Given the description of an element on the screen output the (x, y) to click on. 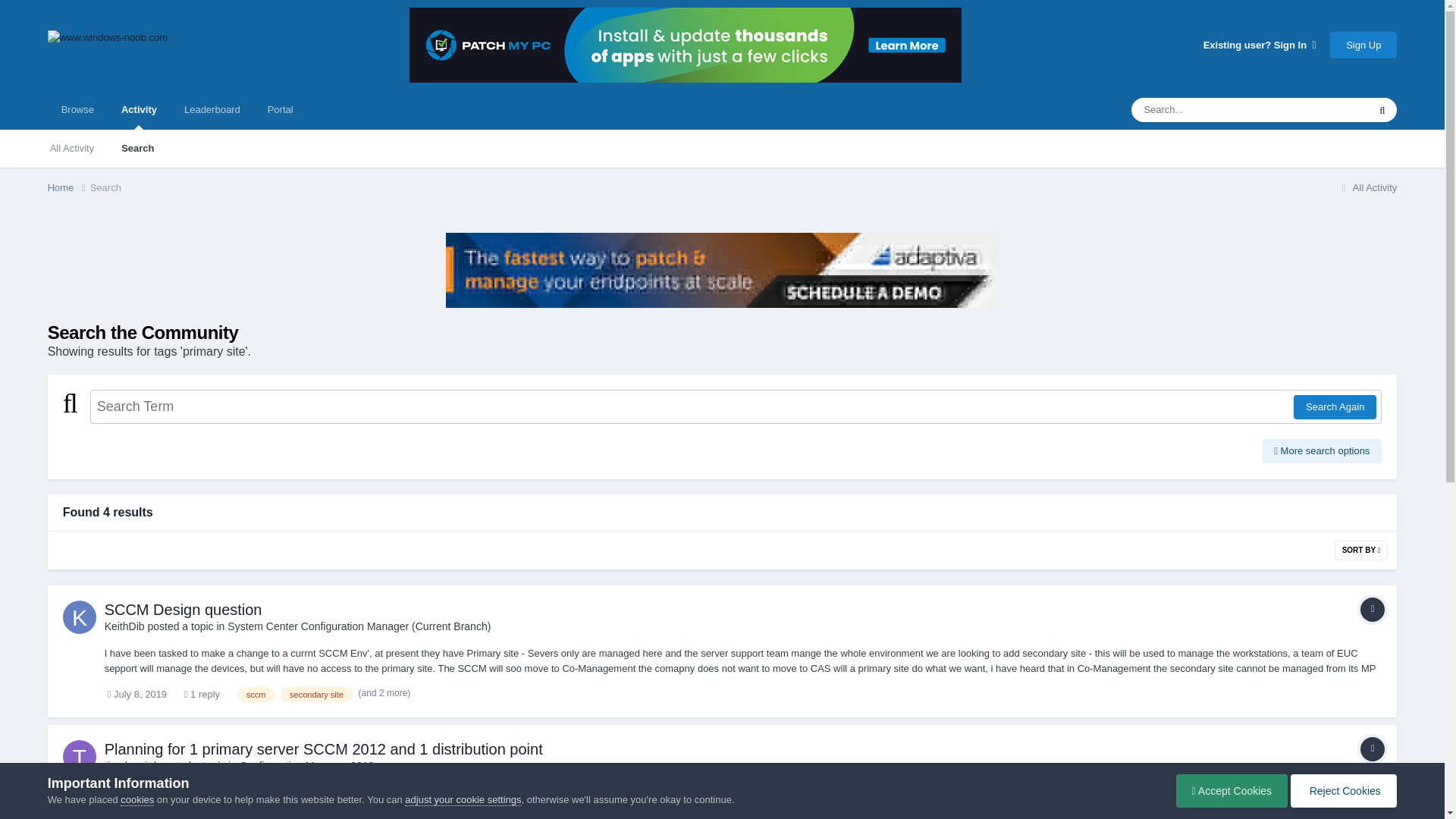
Activity (138, 109)
Leaderboard (211, 109)
Topic (1371, 609)
Existing user? Sign In   (1260, 44)
Sign Up (1363, 44)
Go to tiendungitd's profile (79, 756)
Find other content tagged with 'secondary site' (316, 694)
Browse (77, 109)
More search options (1321, 450)
Home (69, 187)
